Given the description of an element on the screen output the (x, y) to click on. 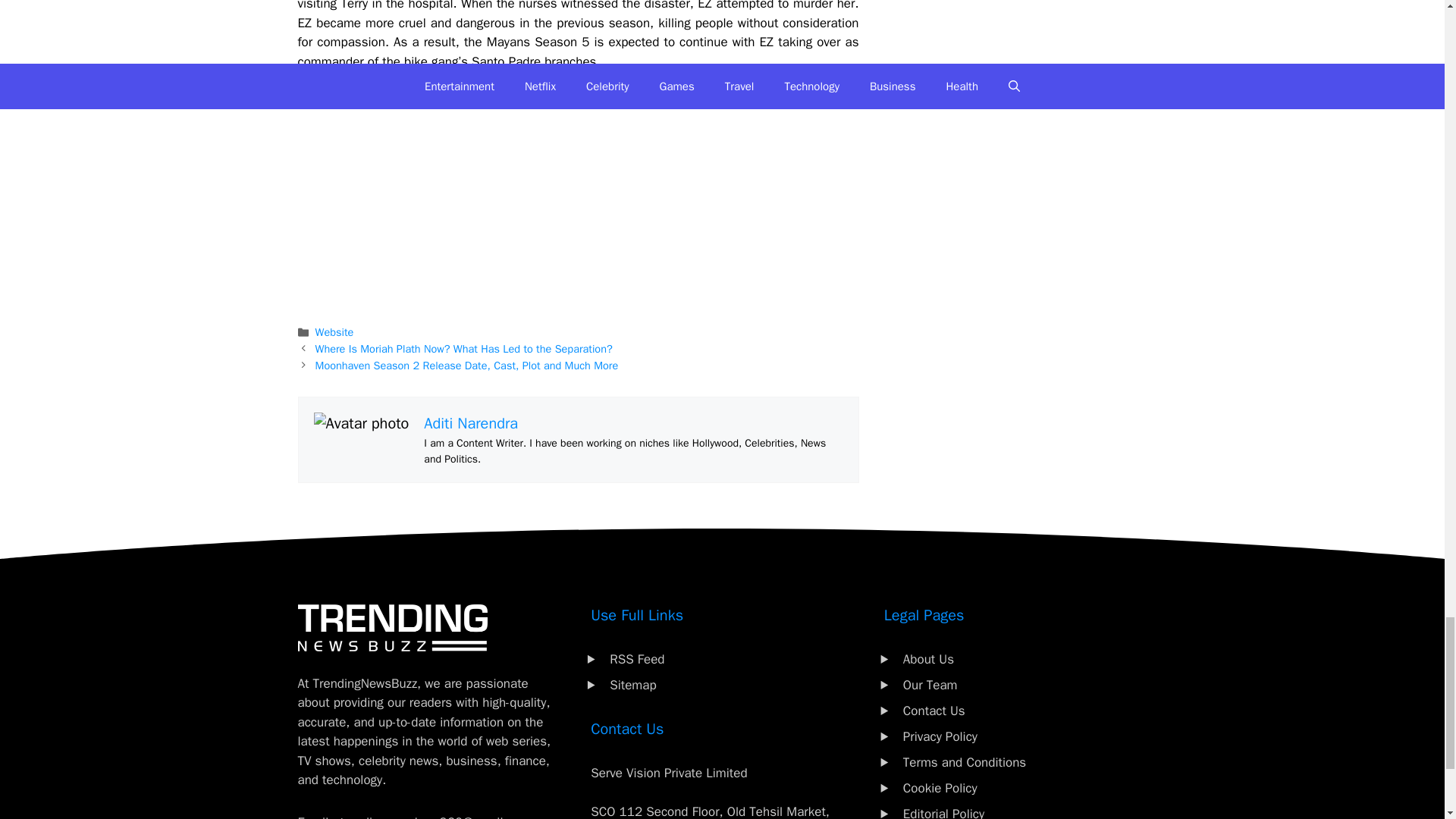
Moonhaven Season 2 Release Date, Cast, Plot and Much More (466, 365)
Aditi Narendra (470, 423)
Website (334, 332)
Where Is Moriah Plath Now? What Has Led to the Separation? (463, 348)
